Given the description of an element on the screen output the (x, y) to click on. 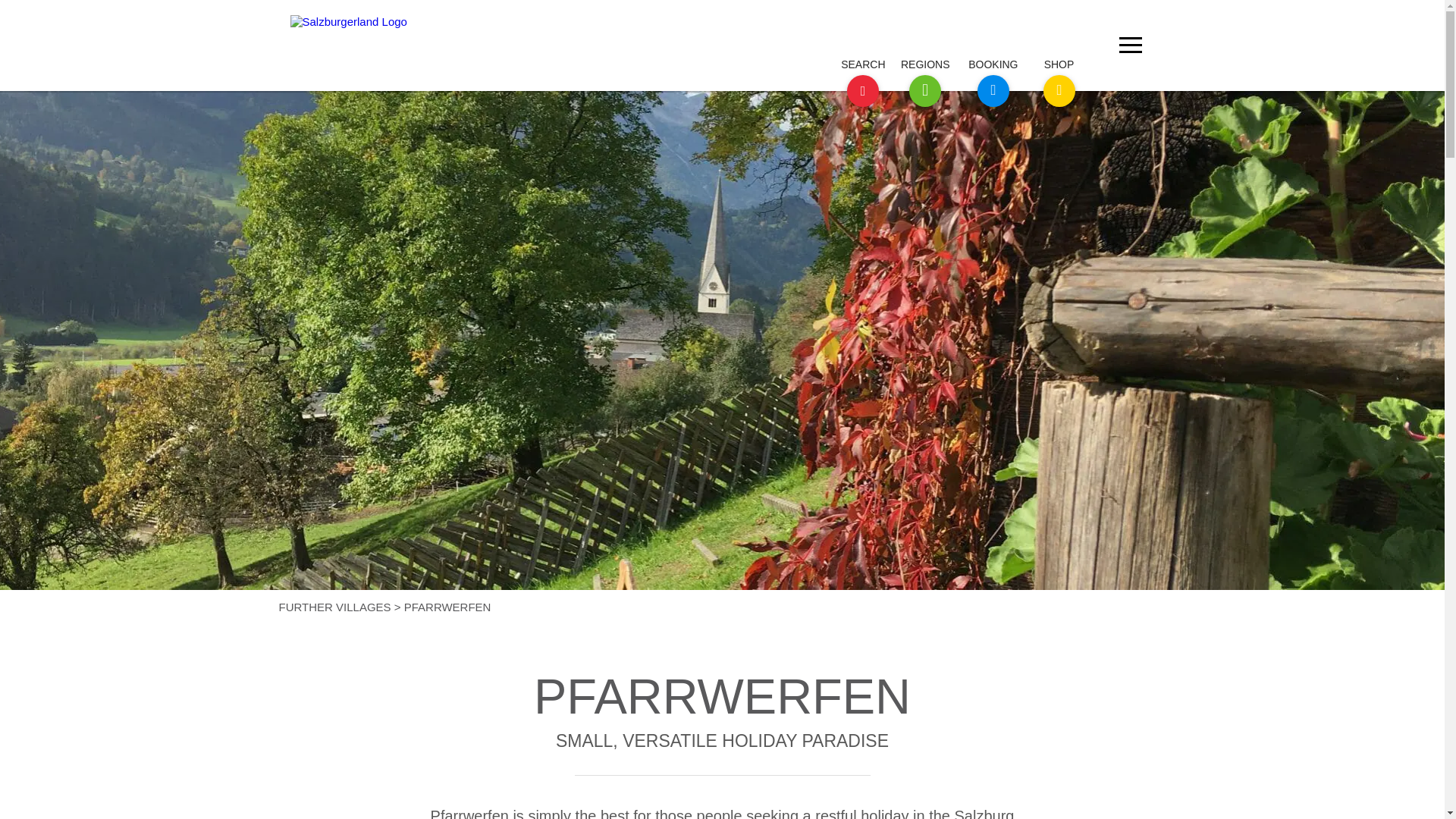
ALL REGIONS (965, 74)
BOOKING (841, 73)
SEARCH (832, 69)
PLACES (945, 74)
